Given the description of an element on the screen output the (x, y) to click on. 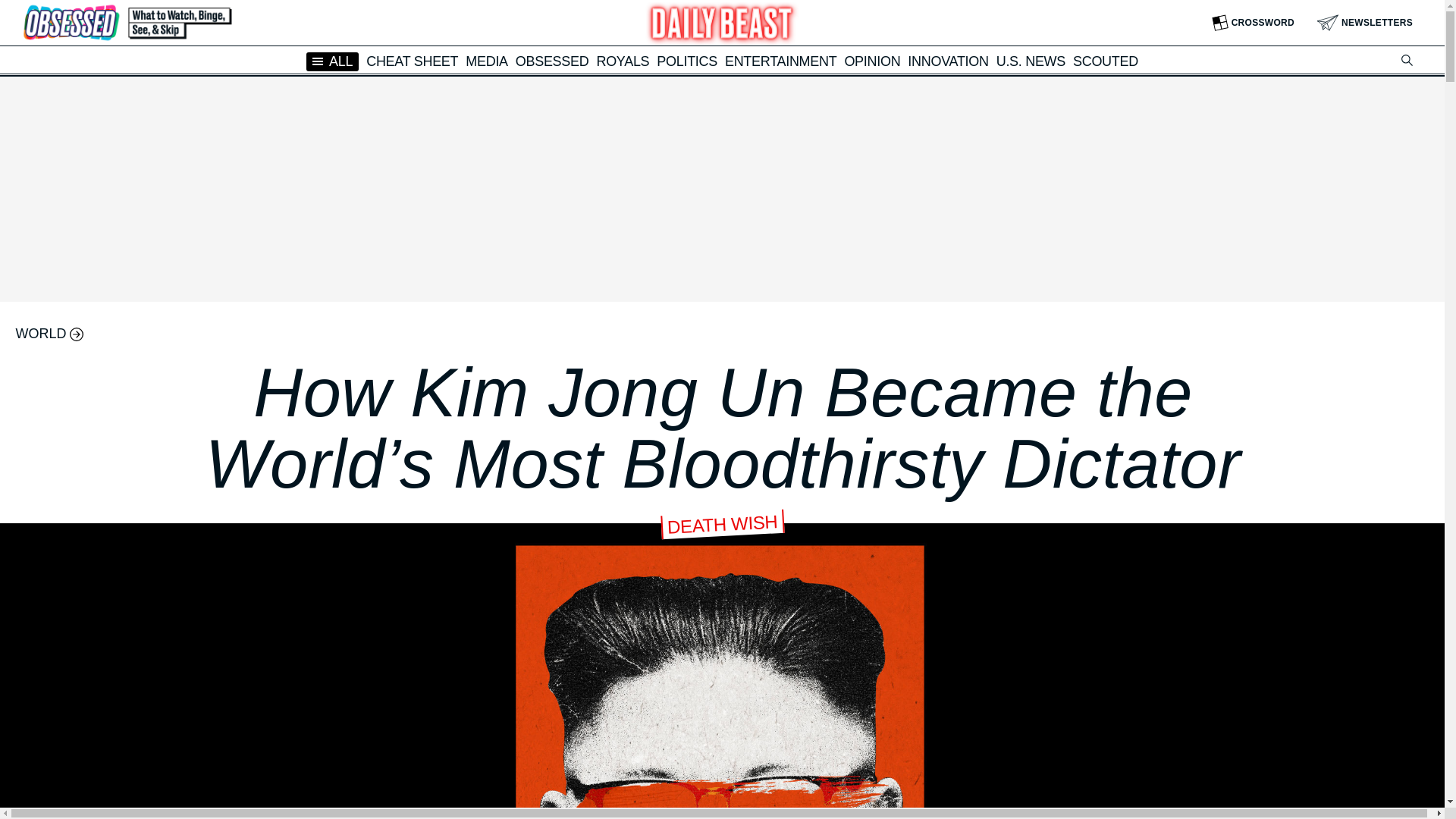
MEDIA (486, 60)
CHEAT SHEET (412, 60)
OPINION (871, 60)
POLITICS (686, 60)
NEWSLETTERS (1364, 22)
U.S. NEWS (1030, 60)
ALL (331, 60)
INNOVATION (947, 60)
SCOUTED (1105, 60)
ENTERTAINMENT (780, 60)
OBSESSED (552, 60)
CROSSWORD (1252, 22)
ROYALS (622, 60)
